Given the description of an element on the screen output the (x, y) to click on. 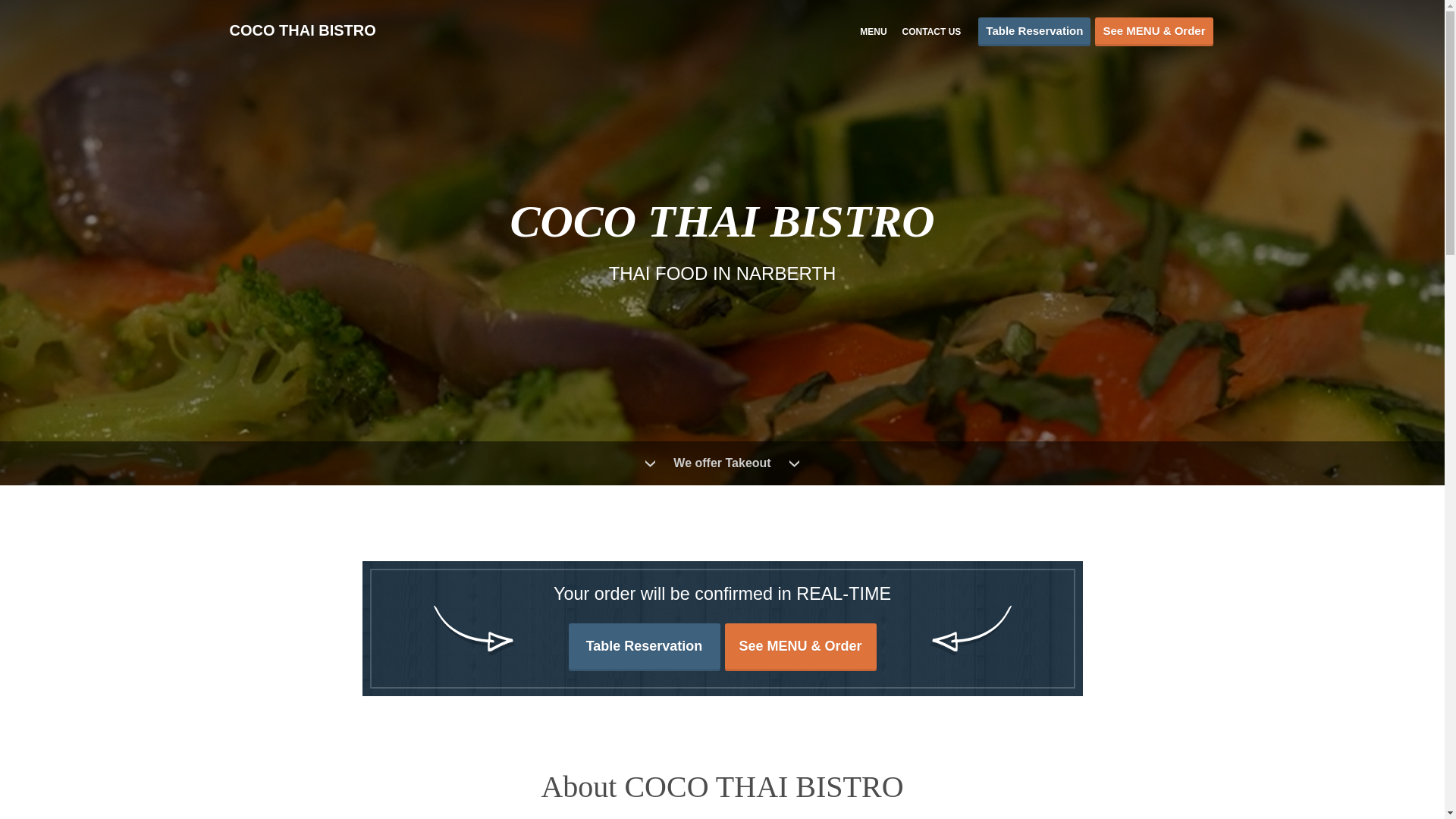
COCO THAI BISTRO (309, 30)
CONTACT US (931, 30)
MENU (873, 30)
